Given the description of an element on the screen output the (x, y) to click on. 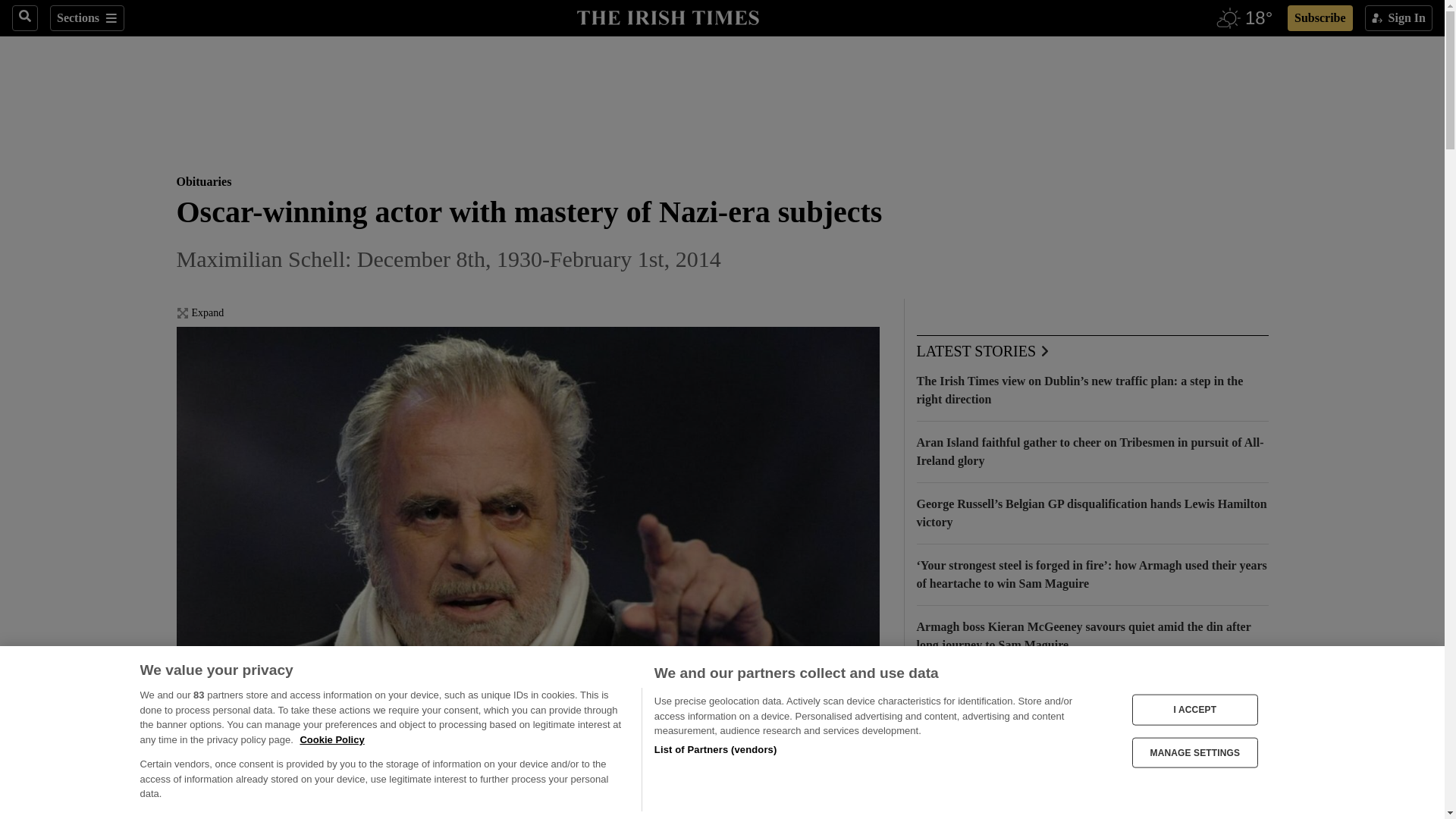
The Irish Times (667, 16)
Sections (86, 17)
Subscribe (1319, 17)
Sign In (1398, 17)
